Given the description of an element on the screen output the (x, y) to click on. 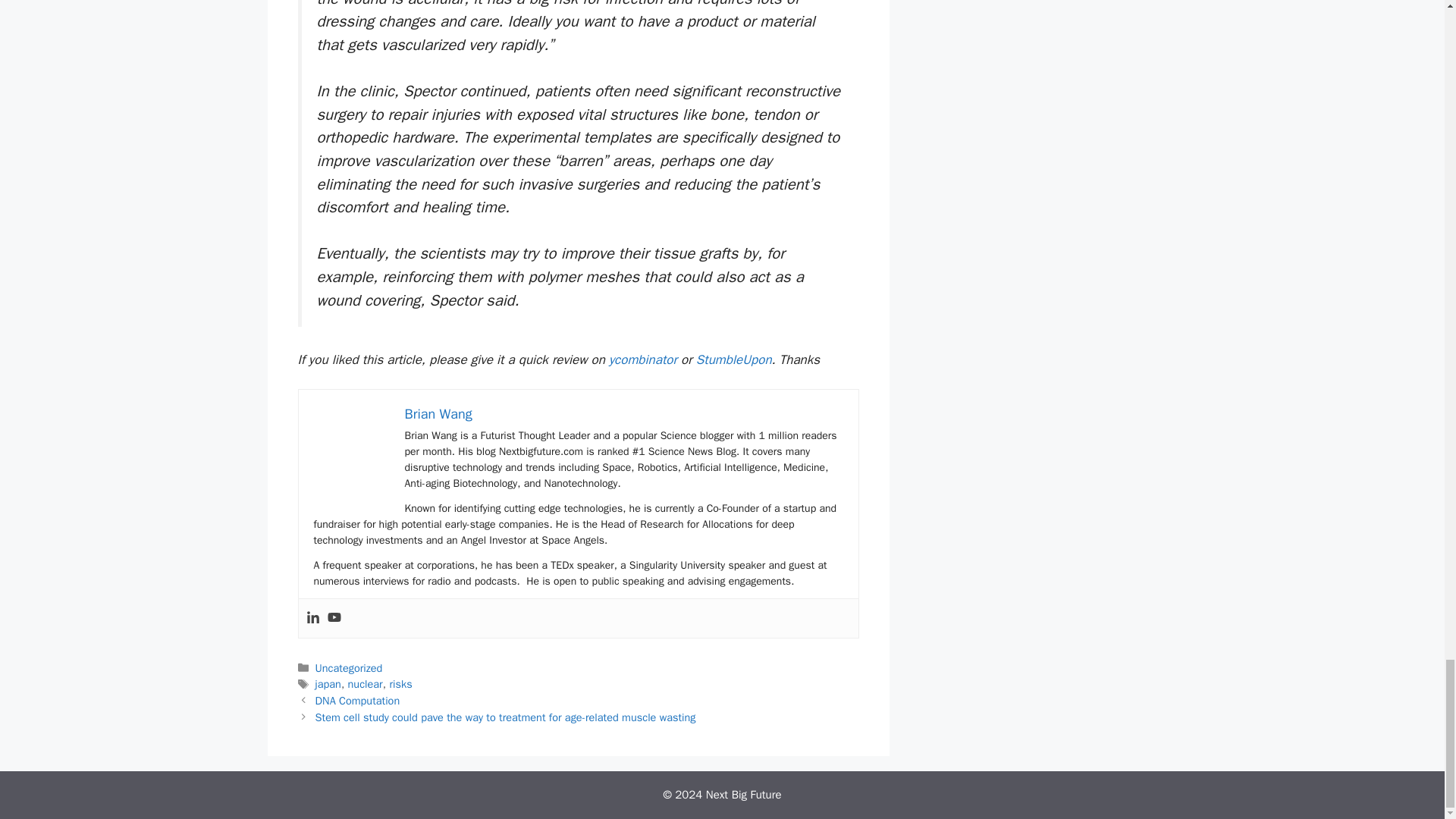
StumbleUpon (733, 359)
Brian Wang (437, 413)
ycombinator (642, 359)
Uncategorized (348, 667)
